Given the description of an element on the screen output the (x, y) to click on. 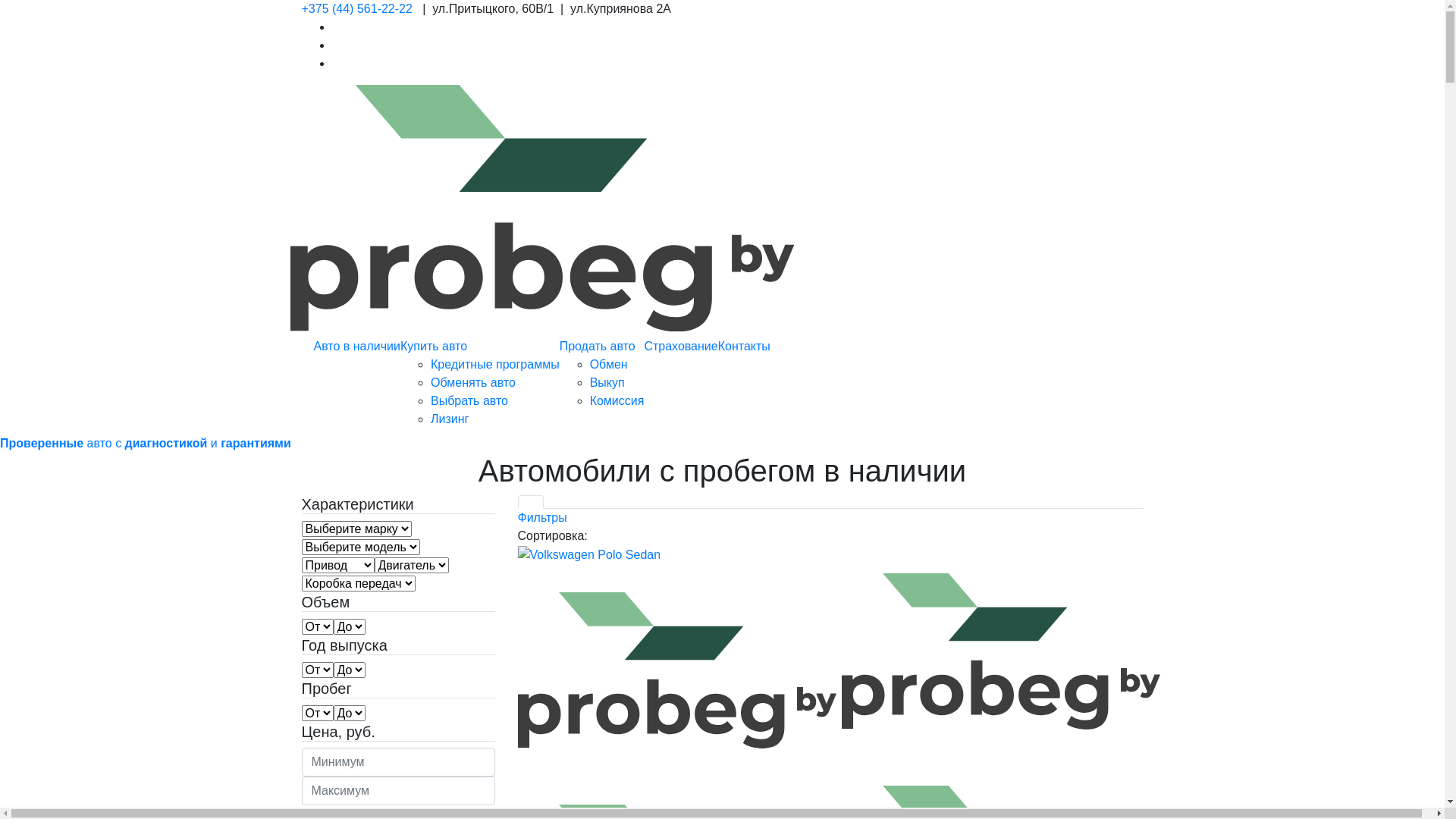
+375 (44) 561-22-22 Element type: text (356, 8)
